Given the description of an element on the screen output the (x, y) to click on. 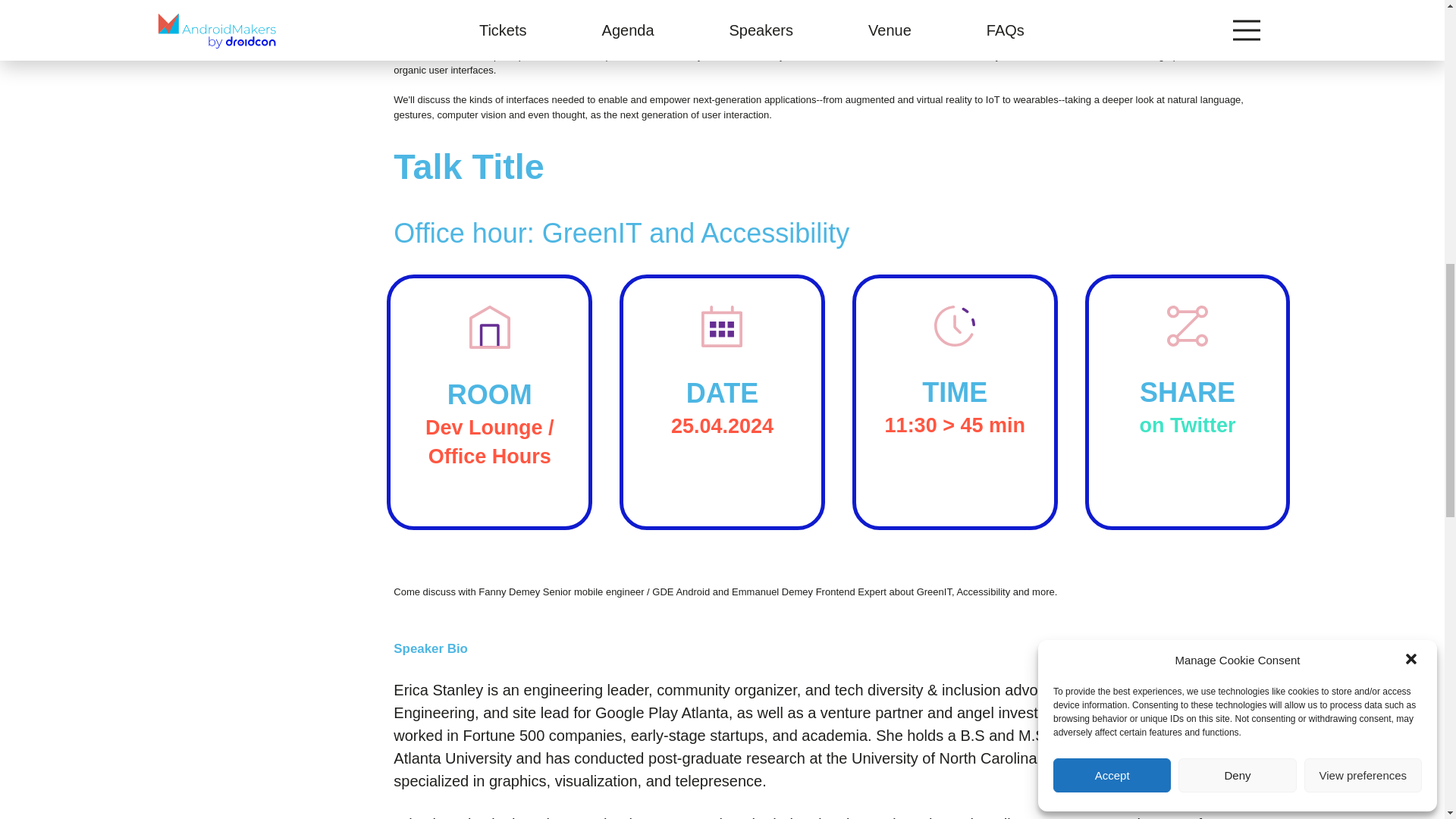
on Twitter (1188, 425)
